Given the description of an element on the screen output the (x, y) to click on. 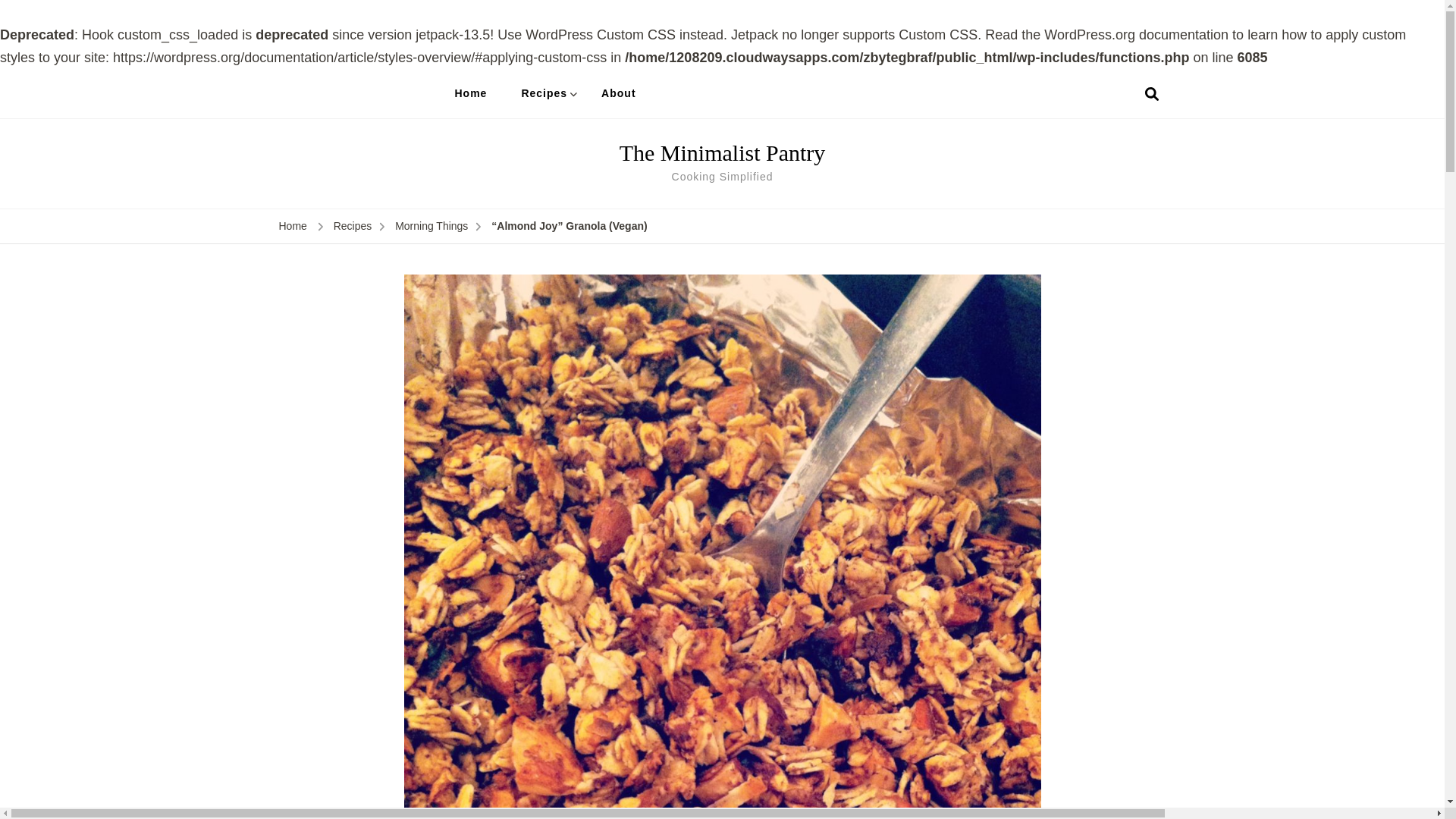
Recipes (352, 226)
Home (293, 226)
Recipes (543, 93)
About (618, 93)
The Minimalist Pantry (722, 152)
Home (470, 93)
Morning Things (430, 226)
